Given the description of an element on the screen output the (x, y) to click on. 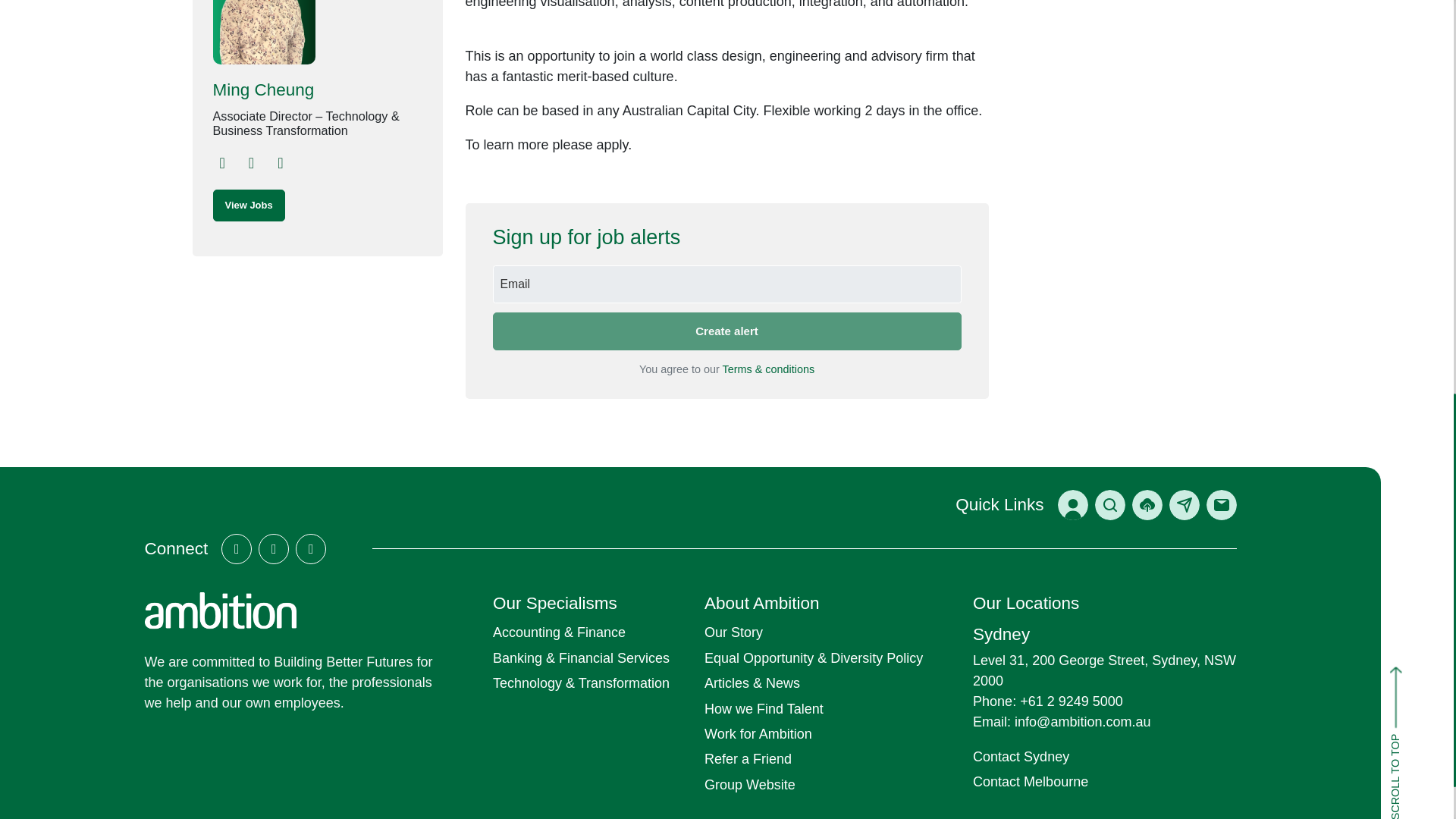
Ming Cheung (317, 89)
Create alert (726, 331)
View Jobs (247, 204)
